Given the description of an element on the screen output the (x, y) to click on. 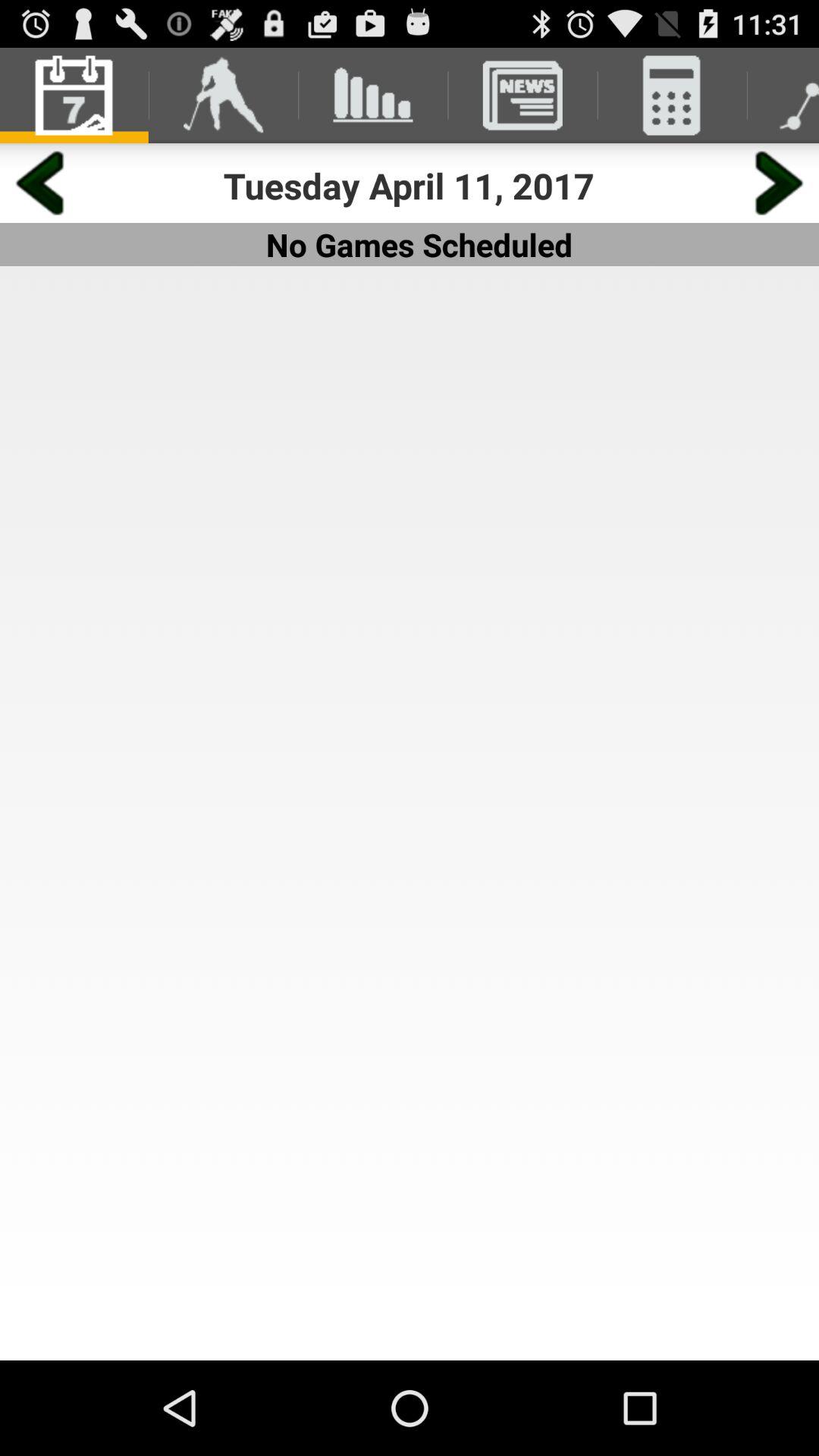
screen navigation button (779, 182)
